Given the description of an element on the screen output the (x, y) to click on. 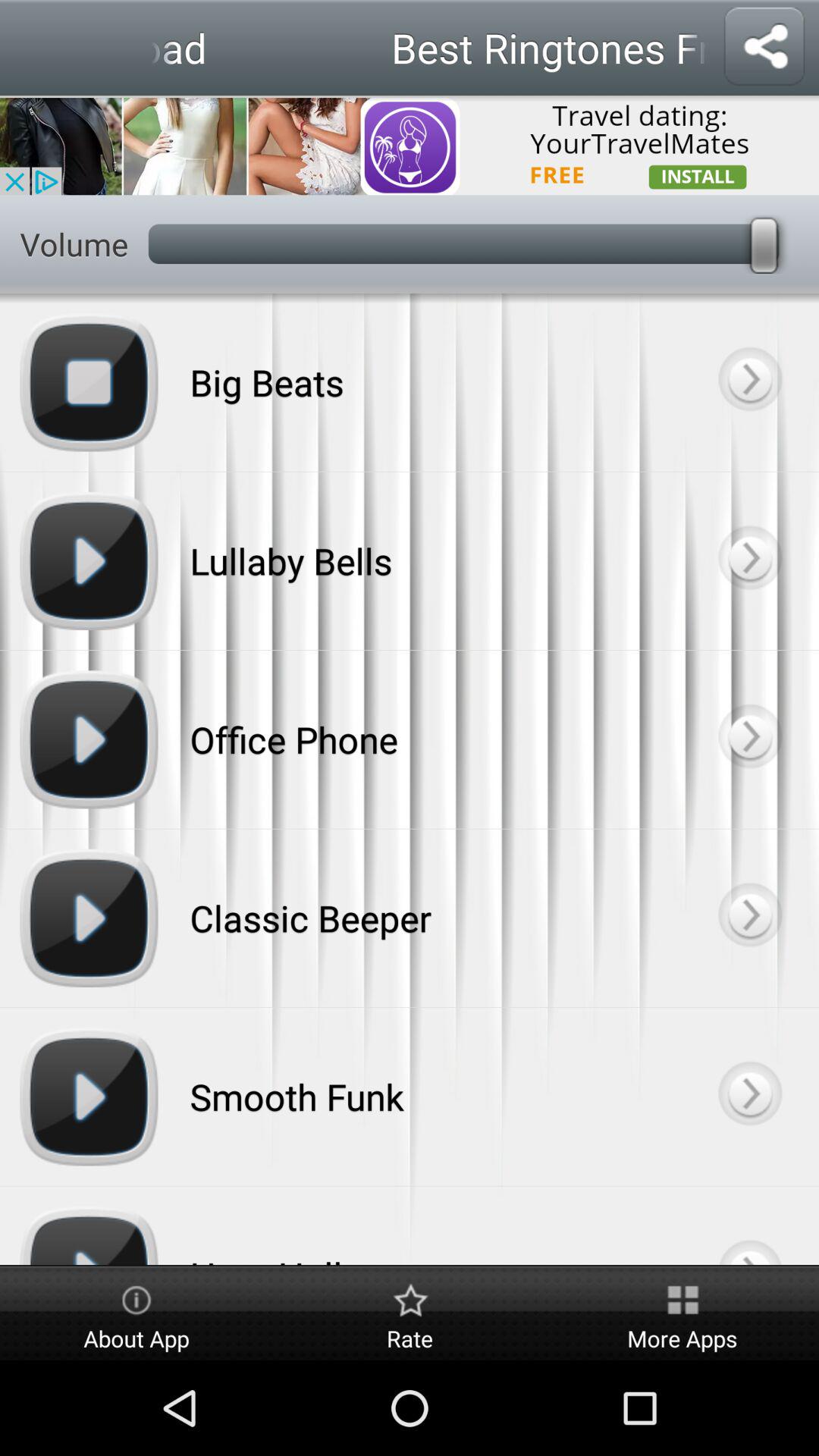
forward (749, 382)
